Given the description of an element on the screen output the (x, y) to click on. 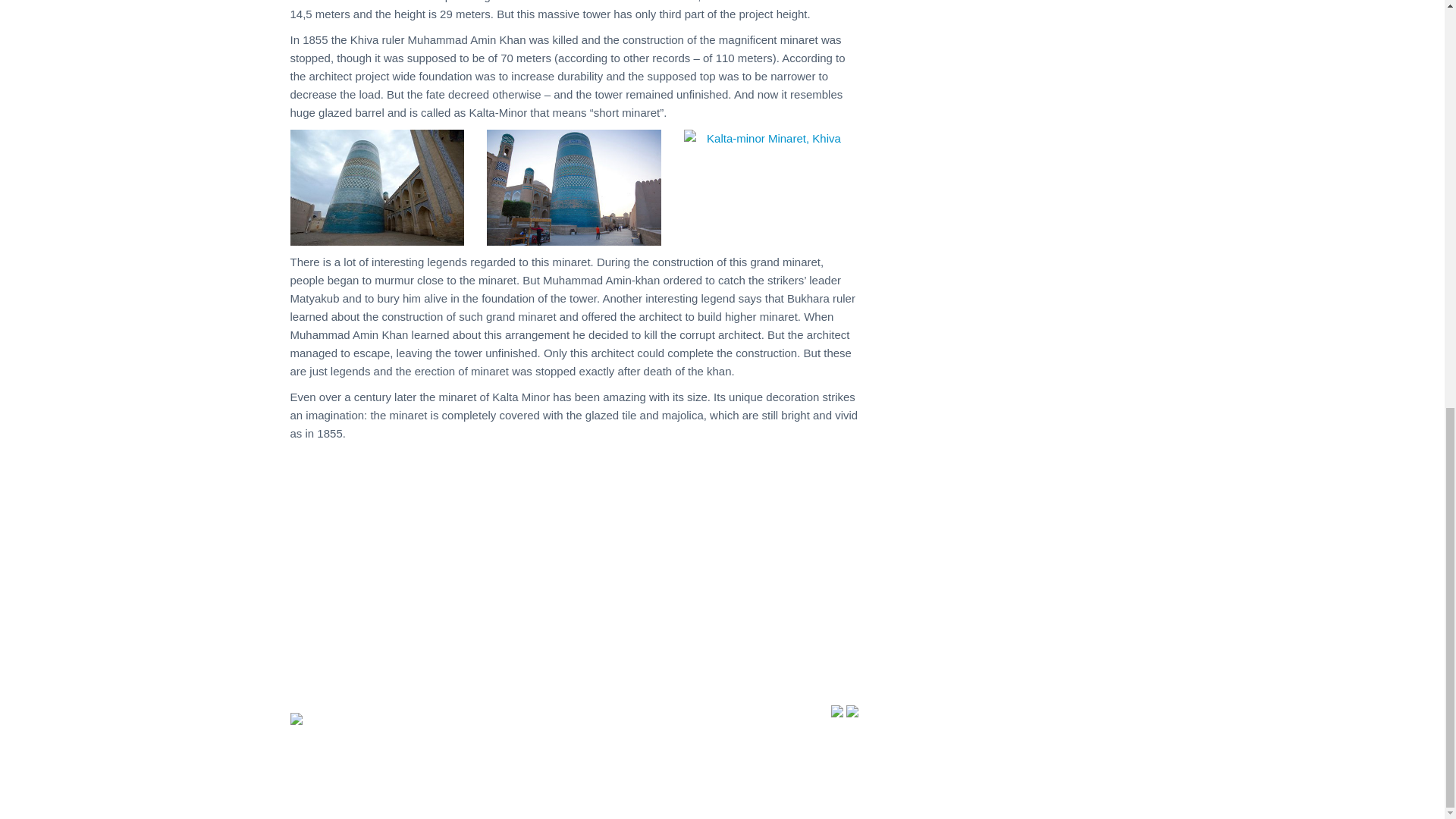
Kalta-minor Minaret, Khiva (376, 187)
